Given the description of an element on the screen output the (x, y) to click on. 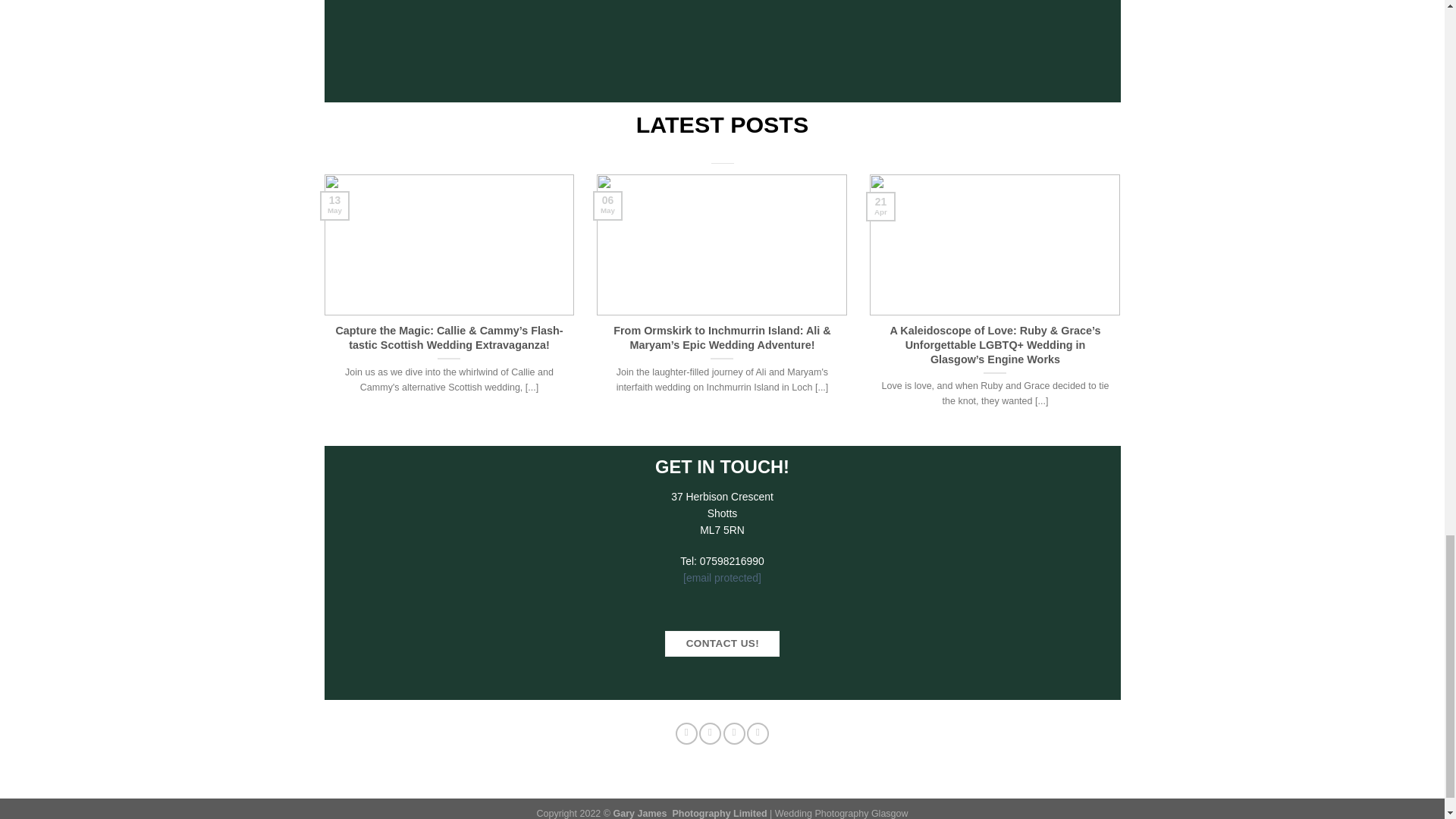
Follow on Instagram (709, 733)
Send us an email (734, 733)
Follow on Facebook (686, 733)
Call us (757, 733)
